Given the description of an element on the screen output the (x, y) to click on. 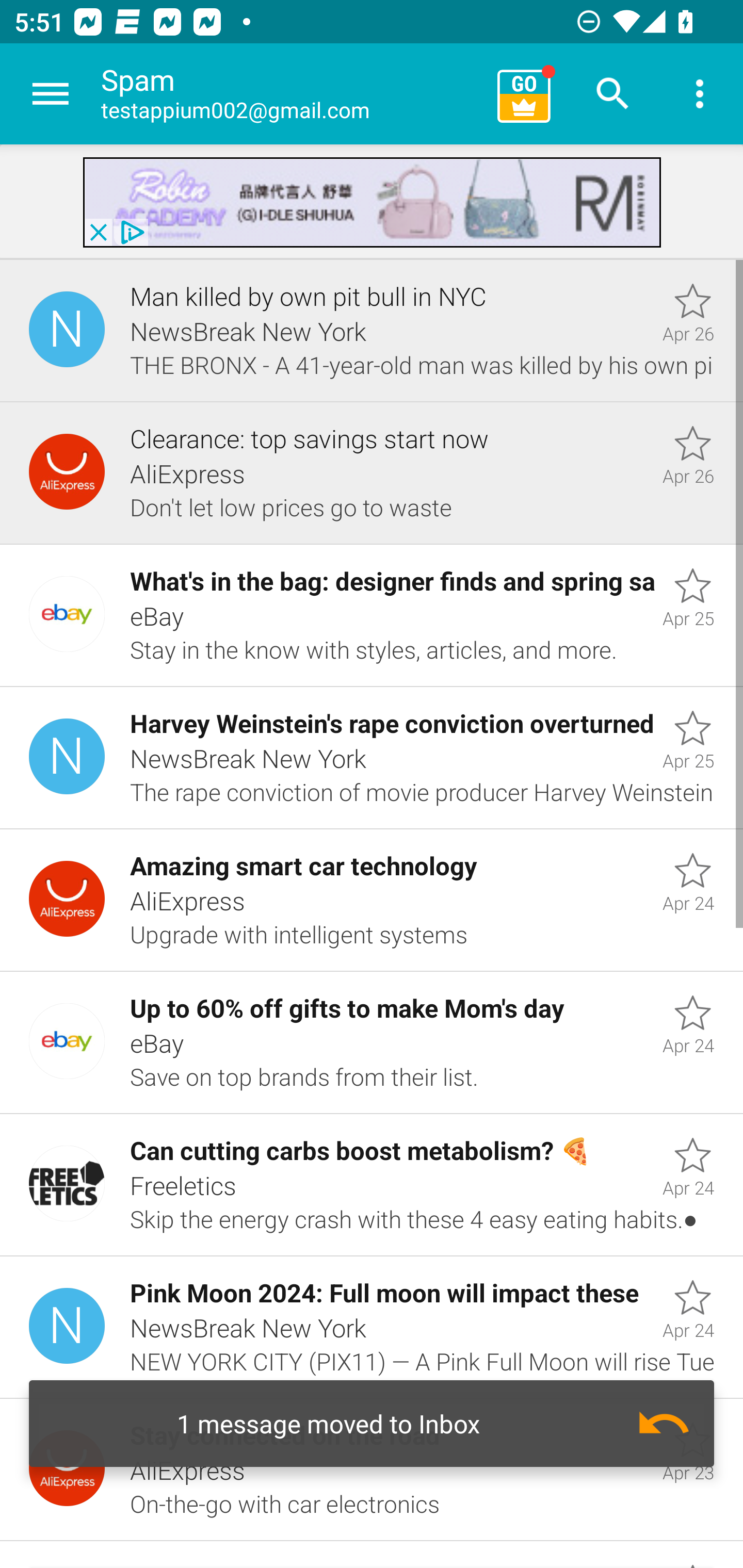
Navigate up (50, 93)
Spam testappium002@gmail.com (291, 93)
Search (612, 93)
More options (699, 93)
close_button (97, 231)
privacy_small (130, 231)
Undo 1 message moved to Inbox (371, 1423)
